Given the description of an element on the screen output the (x, y) to click on. 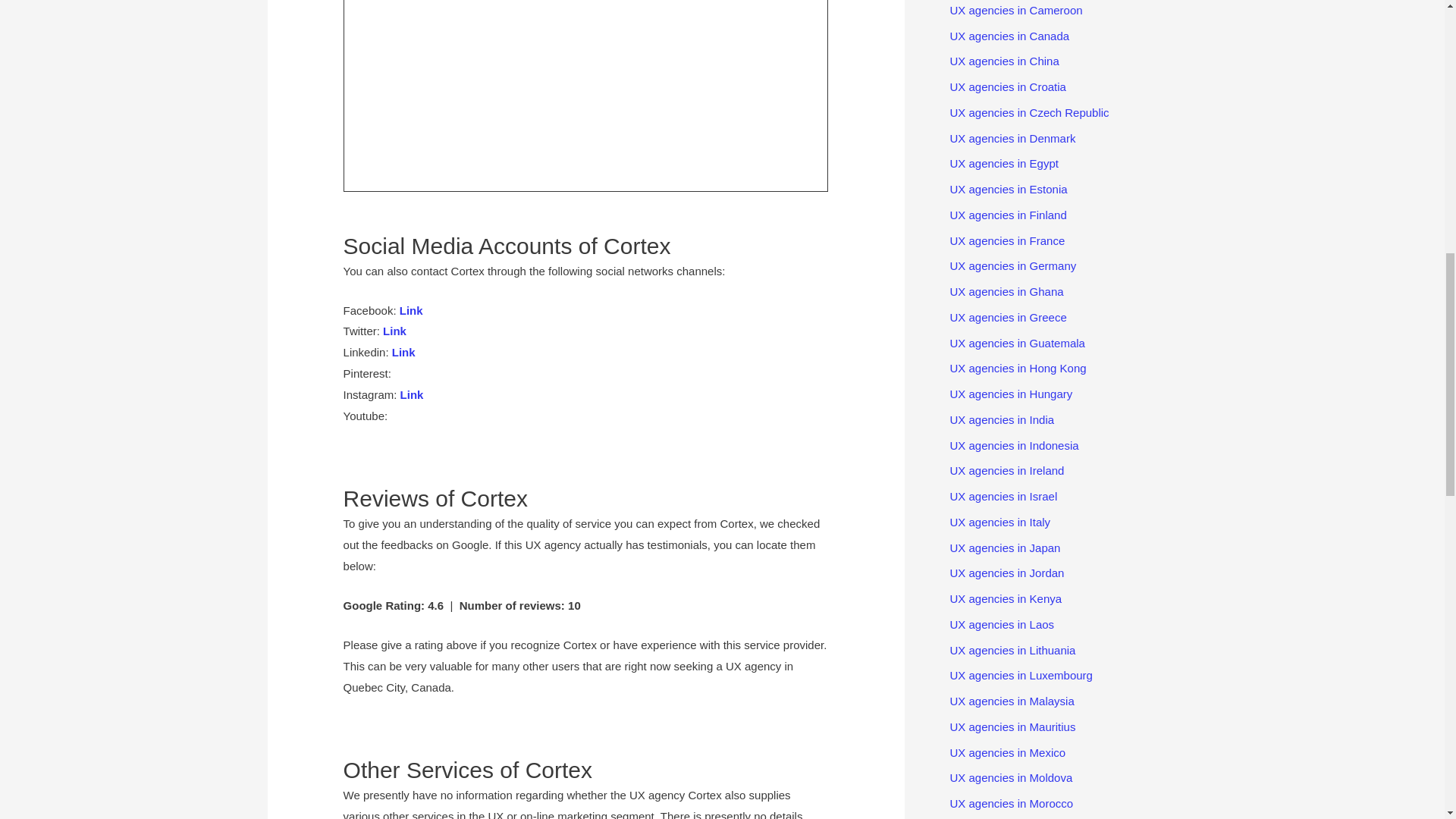
Link (402, 351)
Link (411, 394)
UX agencies in Cameroon (1015, 10)
Link (410, 309)
Link (394, 330)
